Given the description of an element on the screen output the (x, y) to click on. 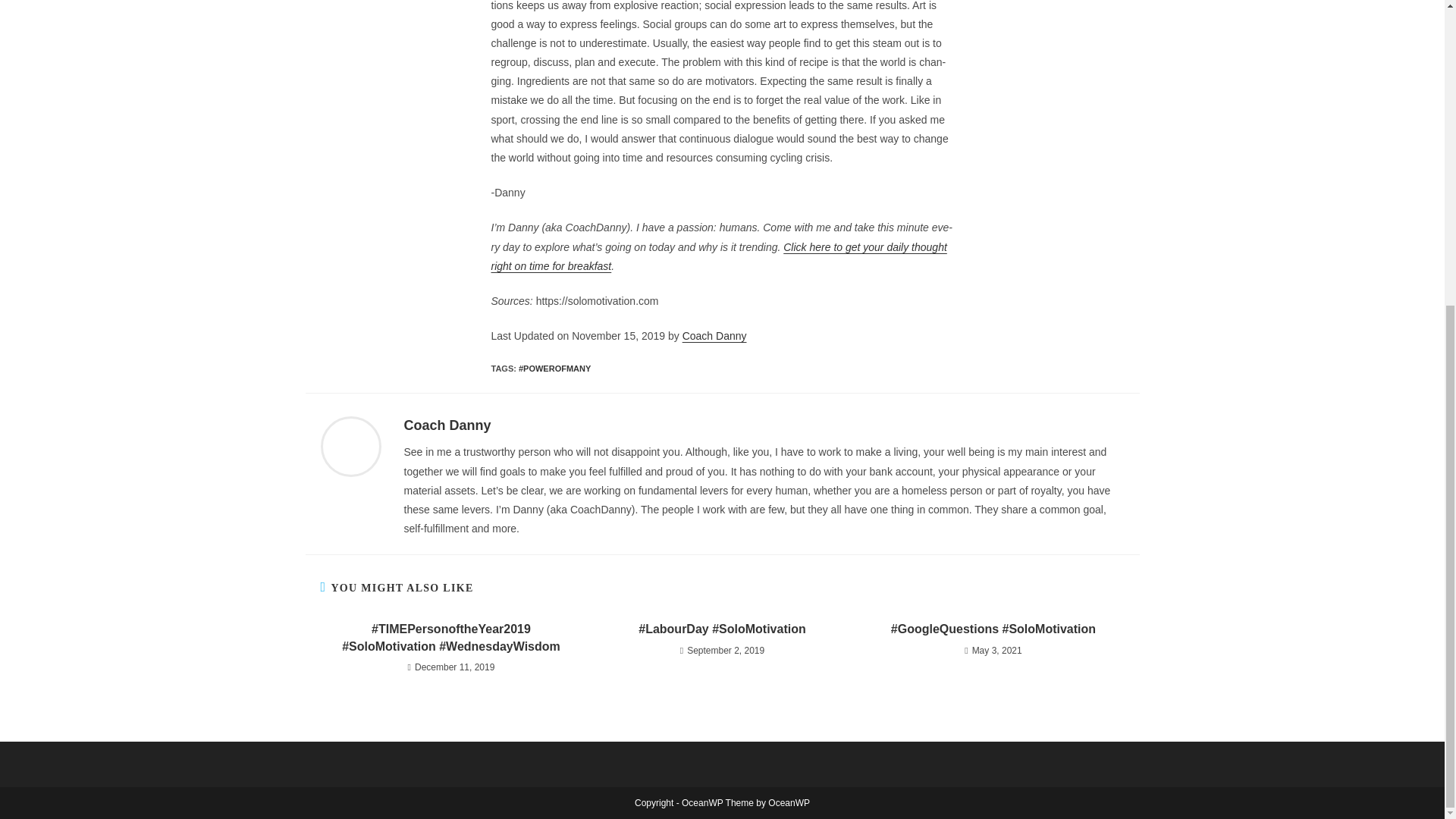
Coach Danny (446, 425)
Visit author page (350, 445)
Visit author page (446, 425)
